Given the description of an element on the screen output the (x, y) to click on. 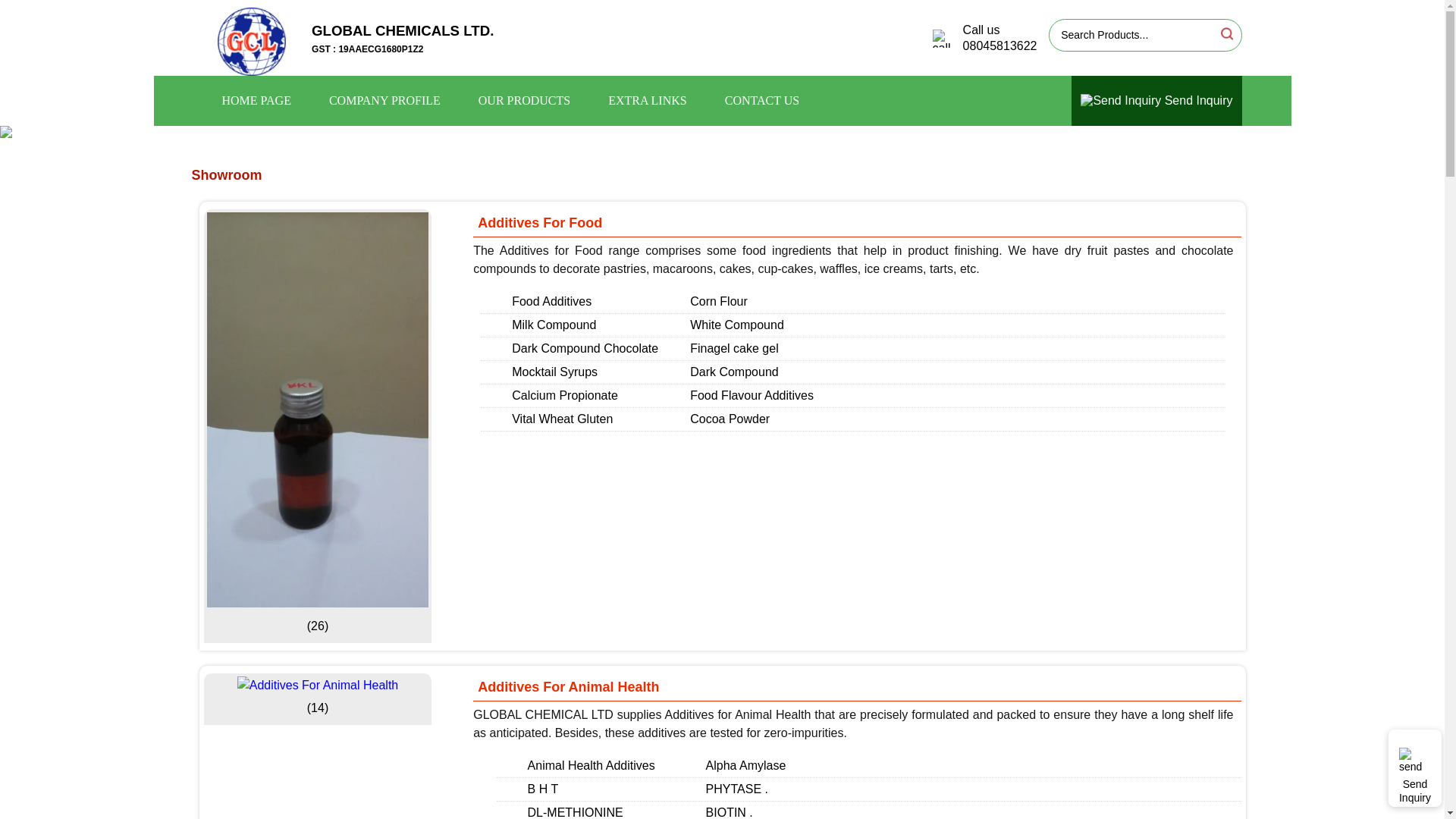
Finagel cake gel (734, 348)
Corn Flour (719, 300)
B H T (543, 788)
Dark Compound Chocolate (585, 348)
Food Flavour Additives (751, 395)
White Compound (737, 324)
Dark Compound (734, 371)
Mocktail Syrups (554, 371)
Food Additives (551, 300)
PHYTASE . (737, 788)
